Given the description of an element on the screen output the (x, y) to click on. 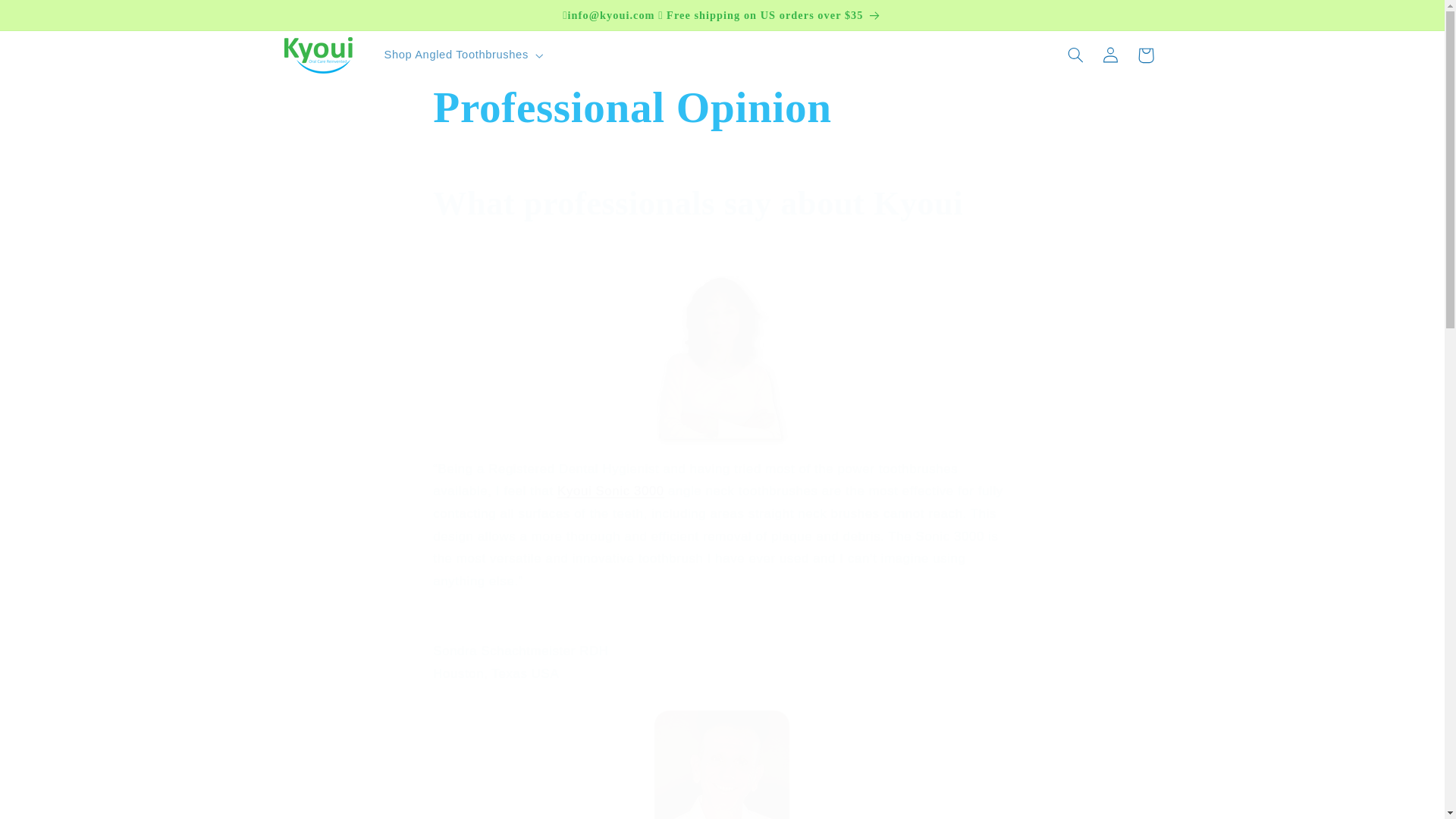
Ignorer et passer au contenu (48, 18)
Professional Opinion (721, 107)
Kyoui Sonic 3000 (610, 490)
Panier (1145, 54)
Connexion (1110, 54)
Buy the kiwi sonic 3000 toothbrush system (610, 490)
